Given the description of an element on the screen output the (x, y) to click on. 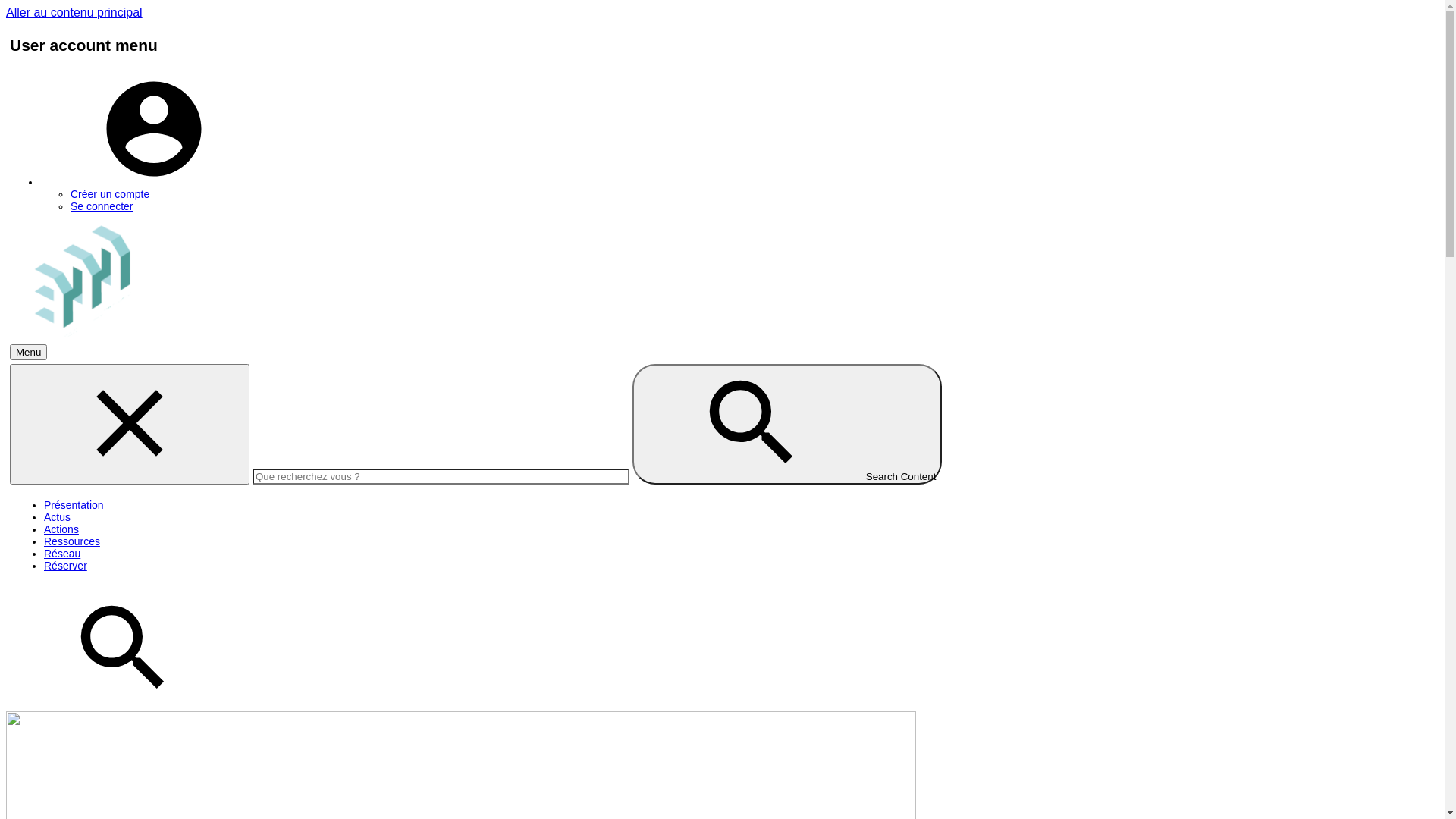
Actus Element type: text (56, 517)
Actions Element type: text (60, 529)
Recherche Element type: text (123, 701)
Aller au contenu principal Element type: text (74, 12)
Menu utilisateur Element type: text (153, 181)
Se connecter Element type: text (101, 206)
Search Content Element type: text (787, 424)
Accueil Element type: hover (81, 331)
Ressources Element type: text (71, 541)
Fermer Element type: text (129, 424)
Menu
Toggle navigation Element type: text (28, 352)
